Given the description of an element on the screen output the (x, y) to click on. 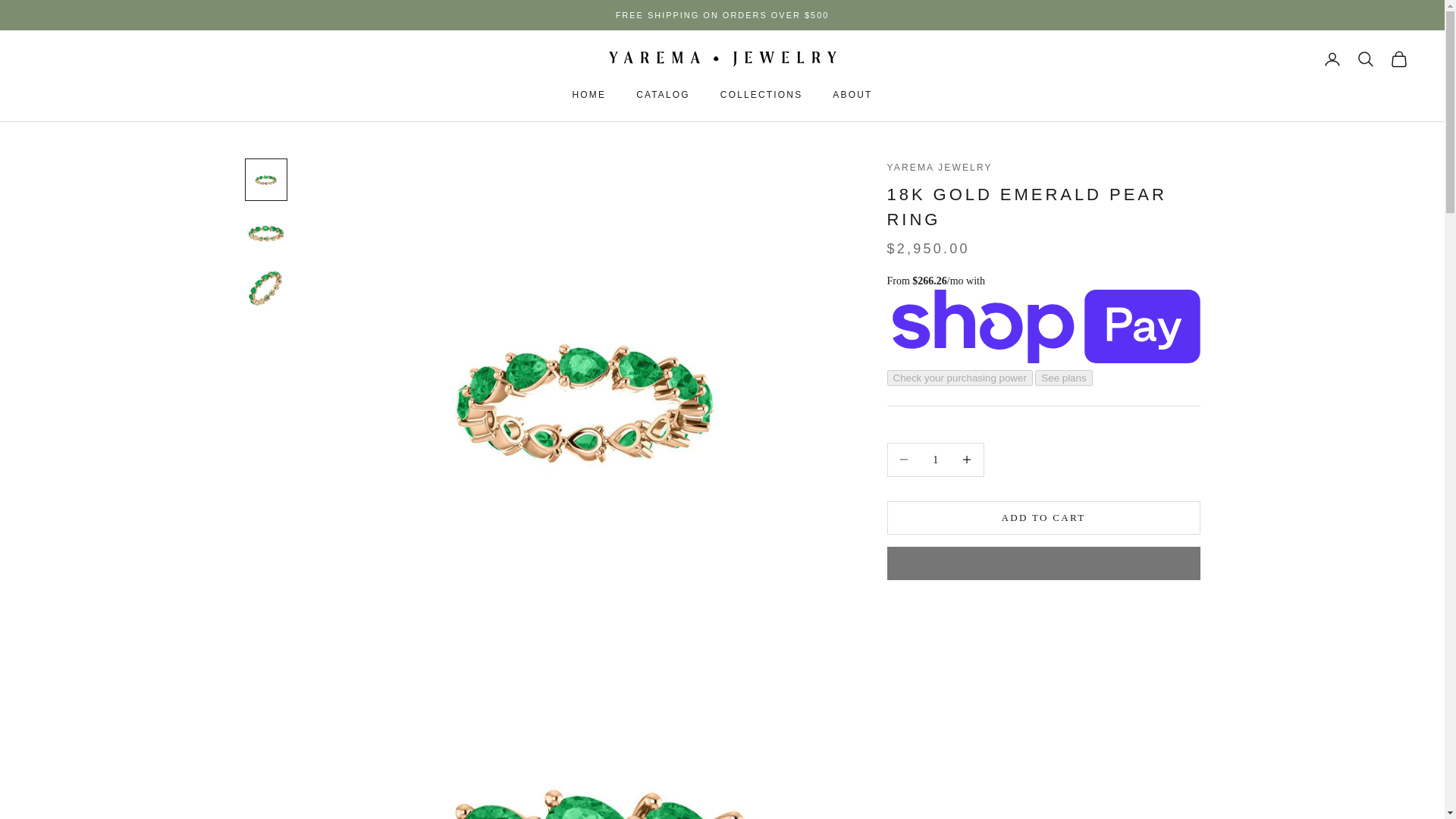
Open cart (1398, 58)
Open account page (1331, 58)
YAREMA JEWELRY (721, 58)
HOME (589, 94)
1 (935, 459)
Open search (1365, 58)
